Given the description of an element on the screen output the (x, y) to click on. 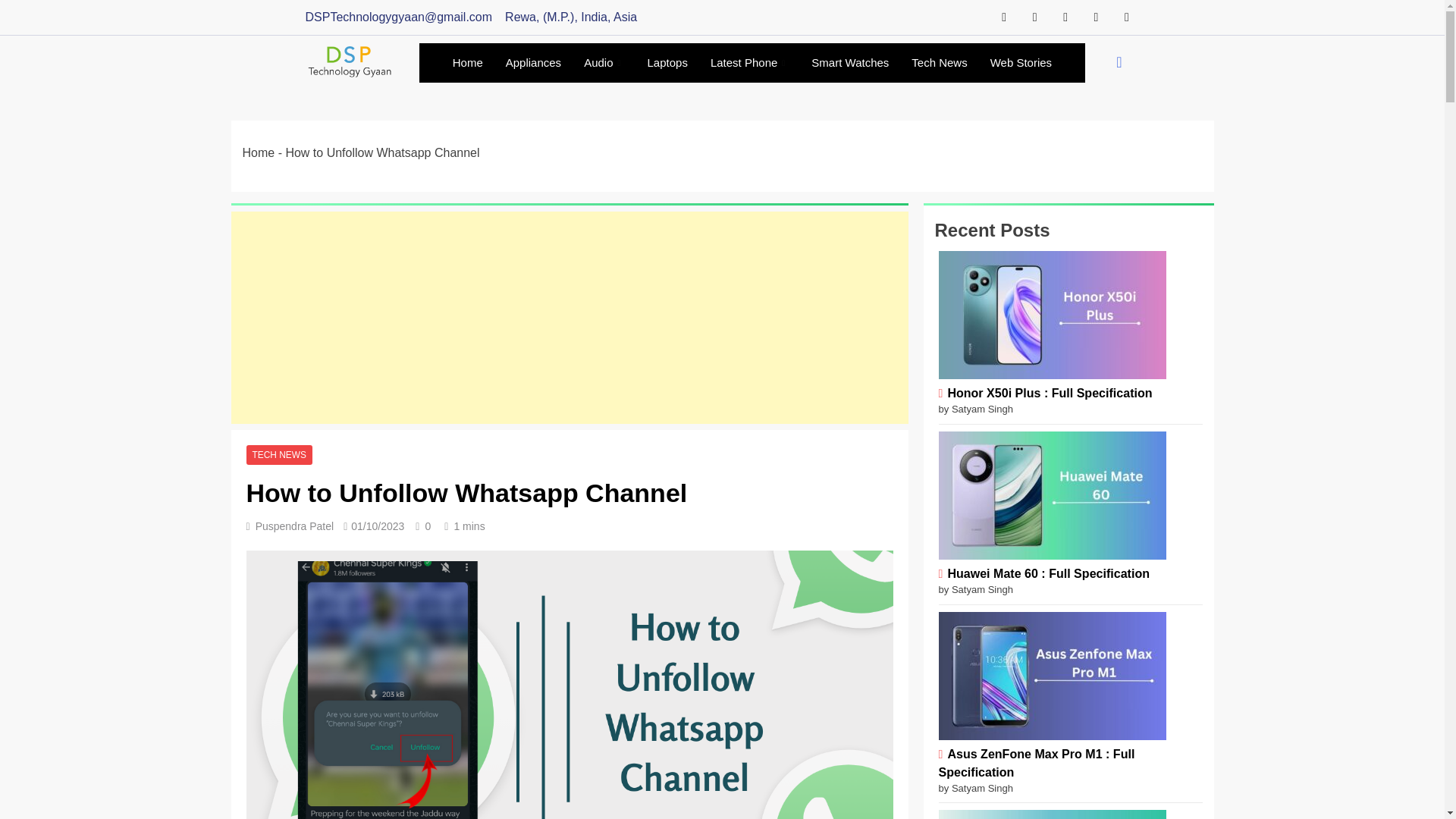
Home (468, 62)
Appliances (533, 62)
Audio (603, 62)
